Given the description of an element on the screen output the (x, y) to click on. 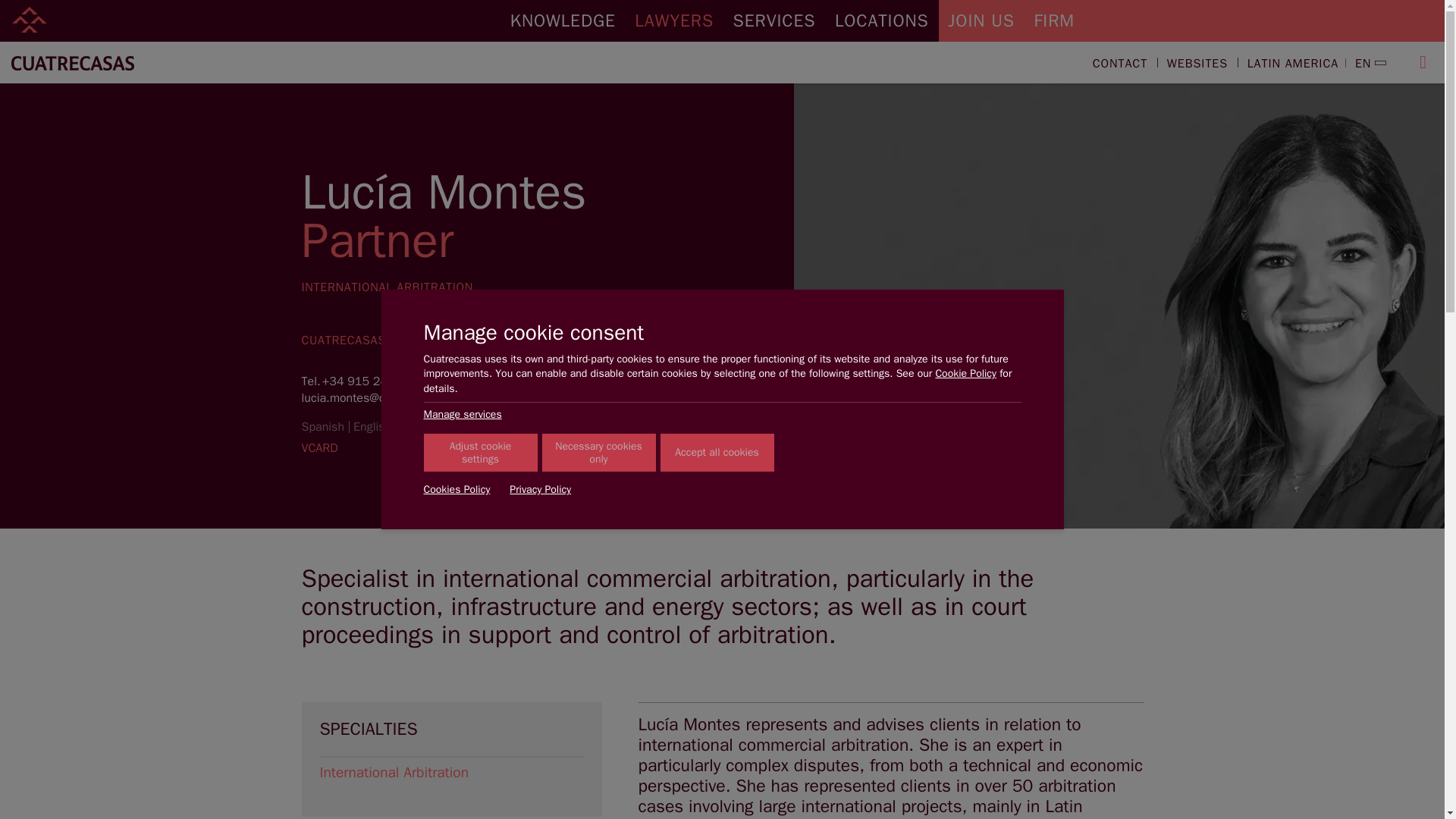
CONTACT (1119, 63)
KNOWLEDGE (563, 20)
SERVICES (774, 20)
WEBSITES (1196, 63)
JOIN US (982, 20)
LOCATIONS (881, 20)
LATIN AMERICA EN (1309, 63)
LAWYERS (674, 20)
FIRM (1054, 20)
